Given the description of an element on the screen output the (x, y) to click on. 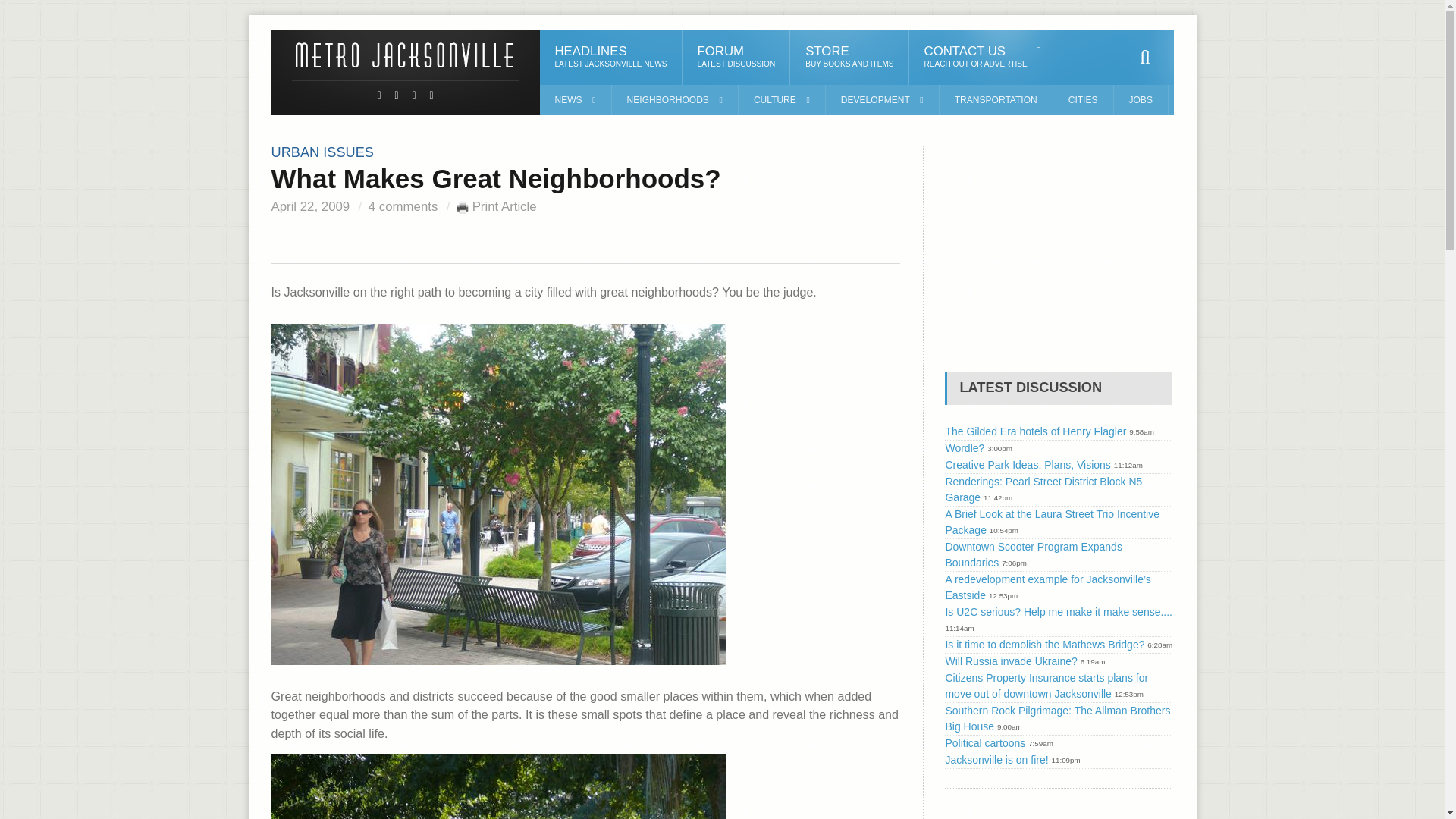
search (1144, 57)
TRANSPORTATION (982, 57)
JOBS (995, 100)
